Given the description of an element on the screen output the (x, y) to click on. 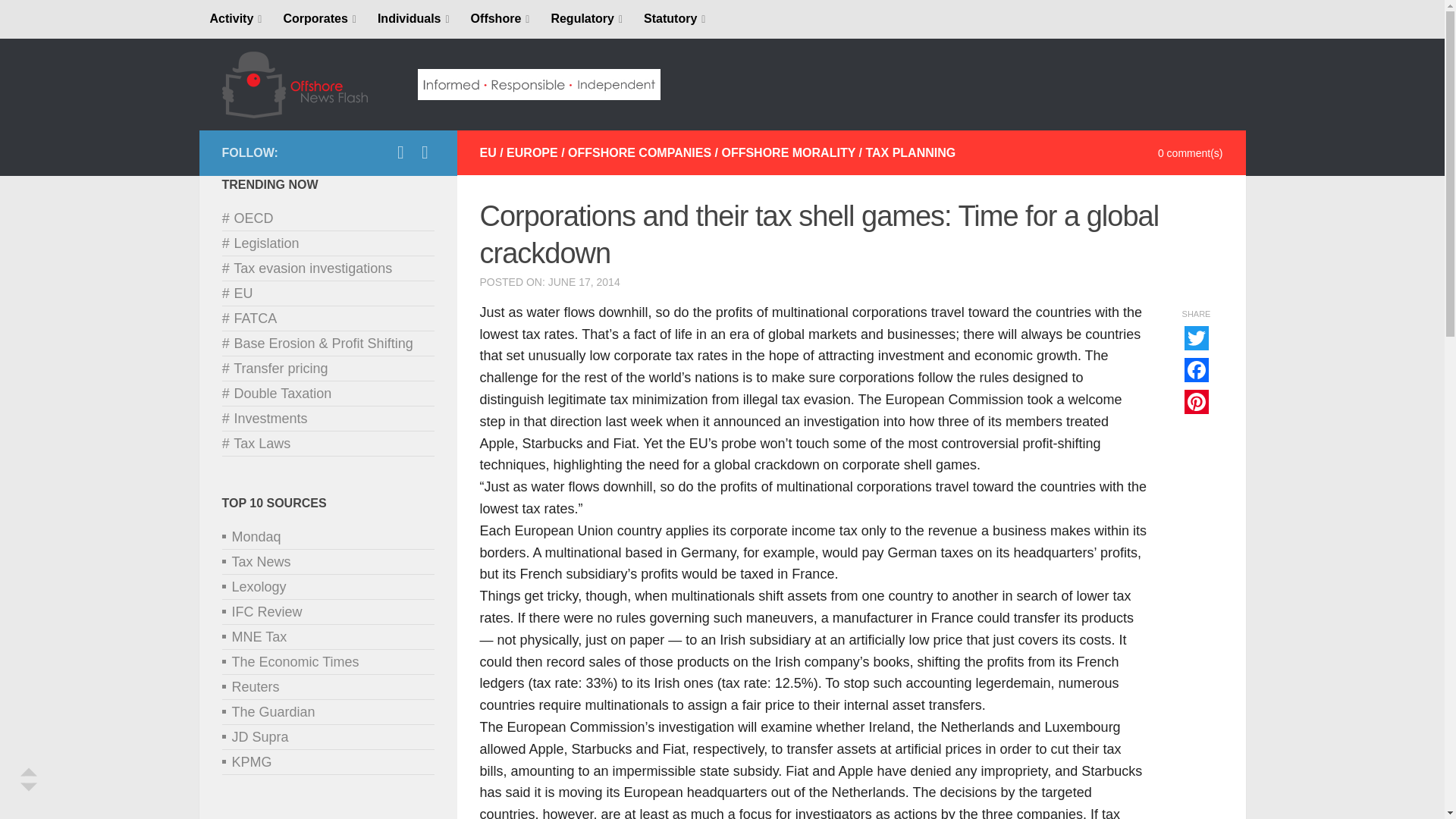
Corporates (319, 19)
Twitter (423, 152)
Facebook (400, 152)
Activity (235, 19)
